Given the description of an element on the screen output the (x, y) to click on. 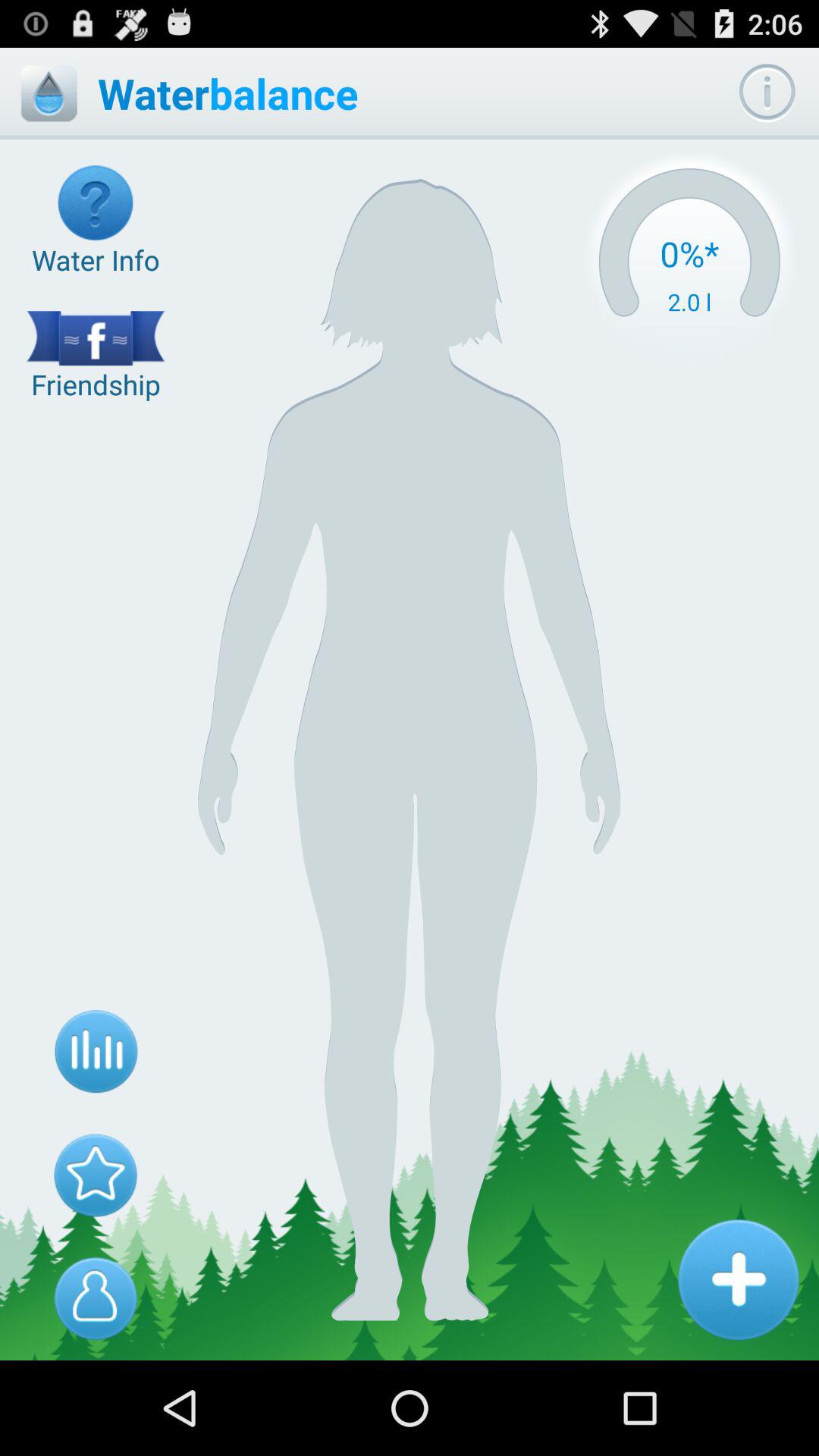
add information (738, 1279)
